Given the description of an element on the screen output the (x, y) to click on. 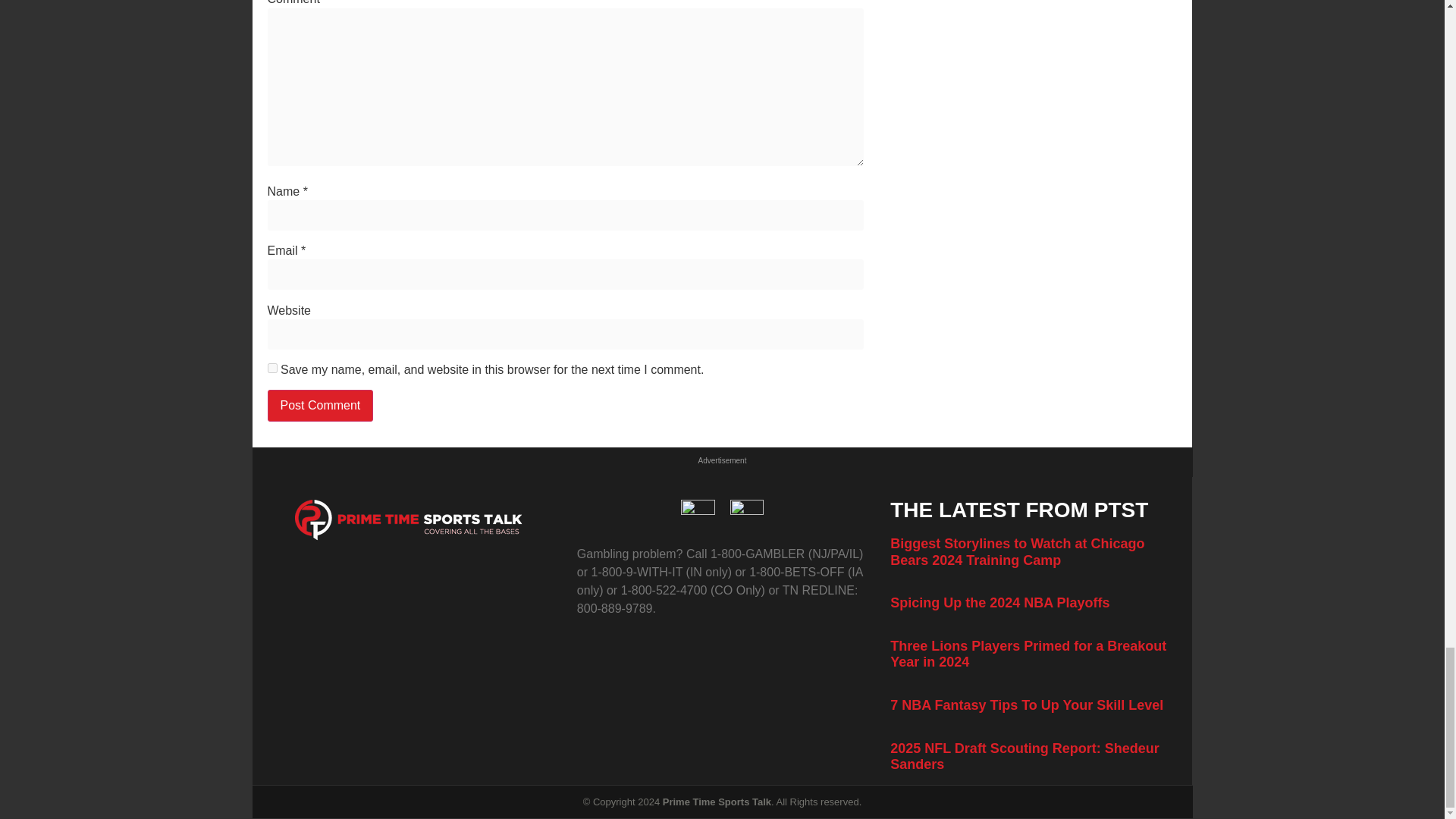
Post Comment (319, 405)
yes (271, 368)
